Given the description of an element on the screen output the (x, y) to click on. 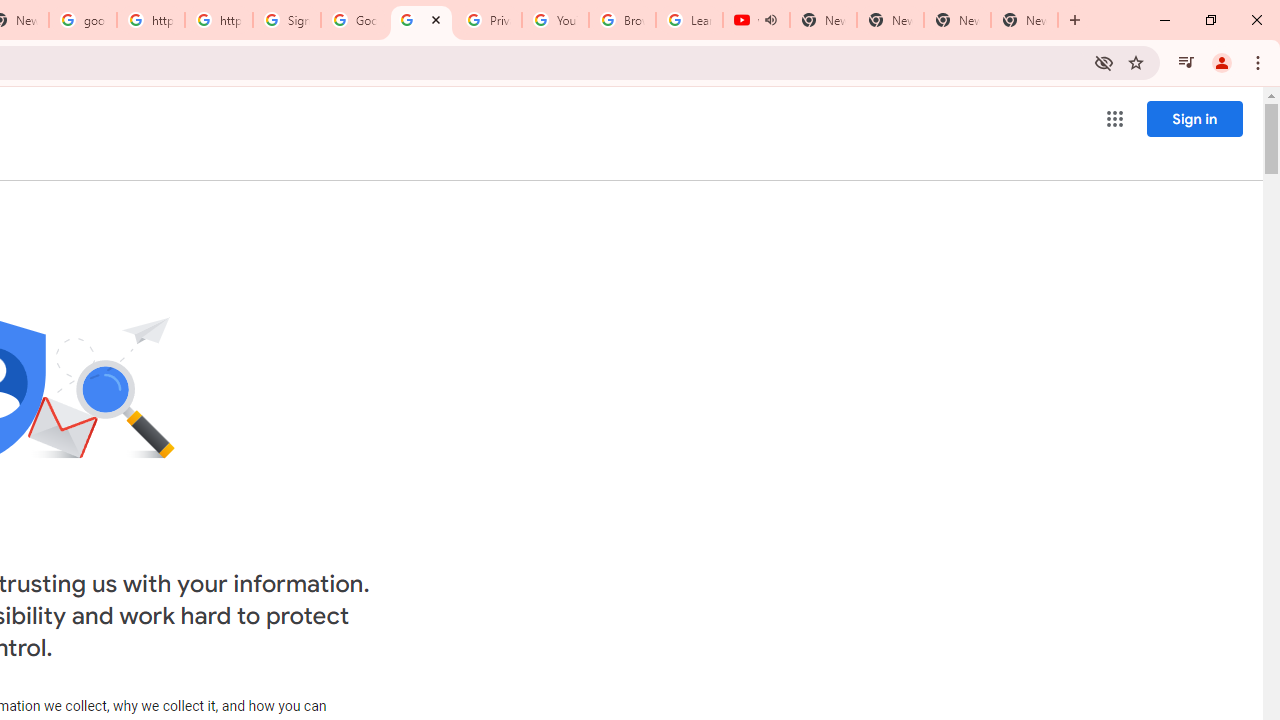
https://scholar.google.com/ (219, 20)
New Tab (1024, 20)
